Given the description of an element on the screen output the (x, y) to click on. 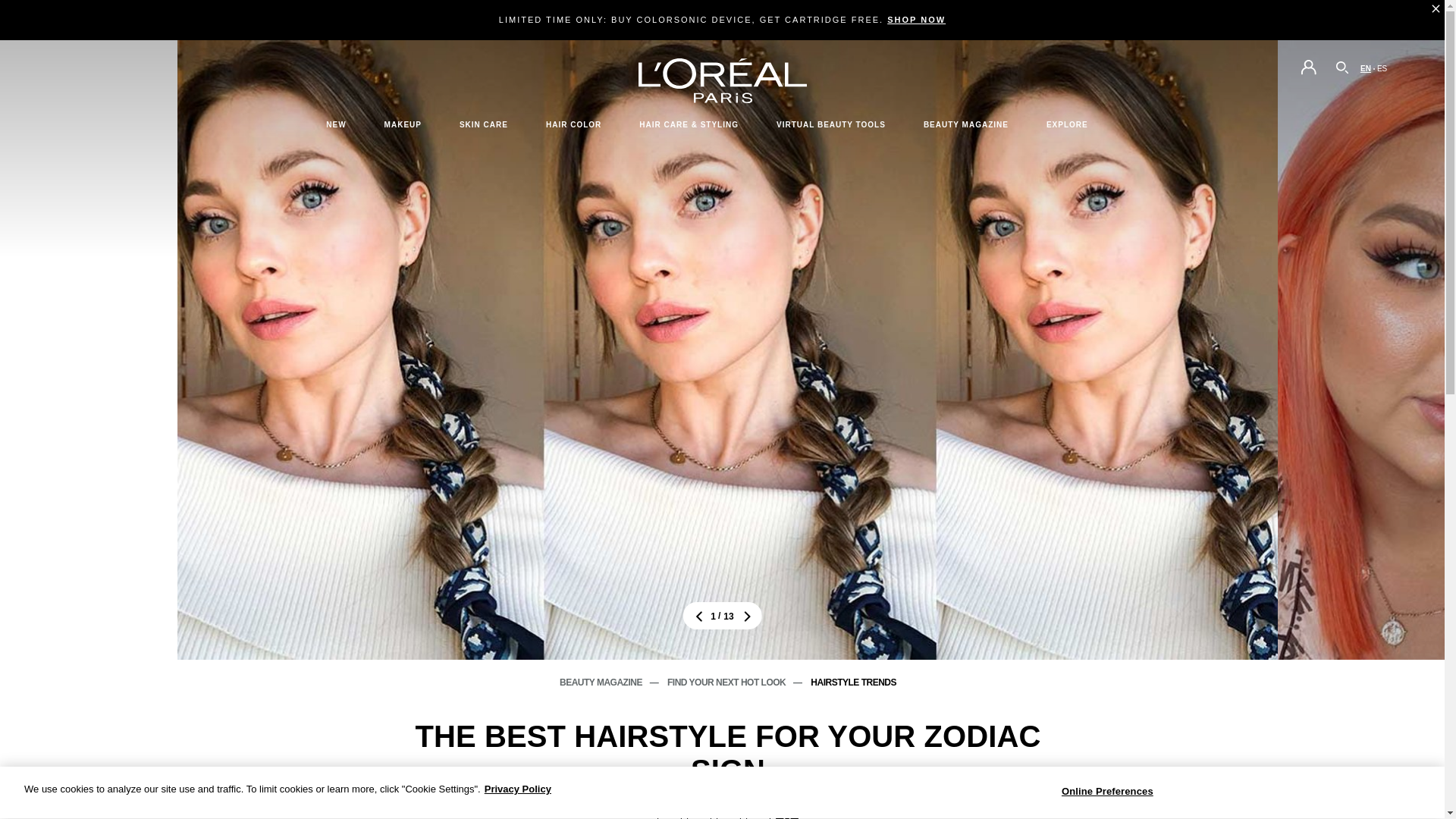
SHOP NOW (915, 19)
NEW (335, 124)
MAKEUP (402, 124)
